Given the description of an element on the screen output the (x, y) to click on. 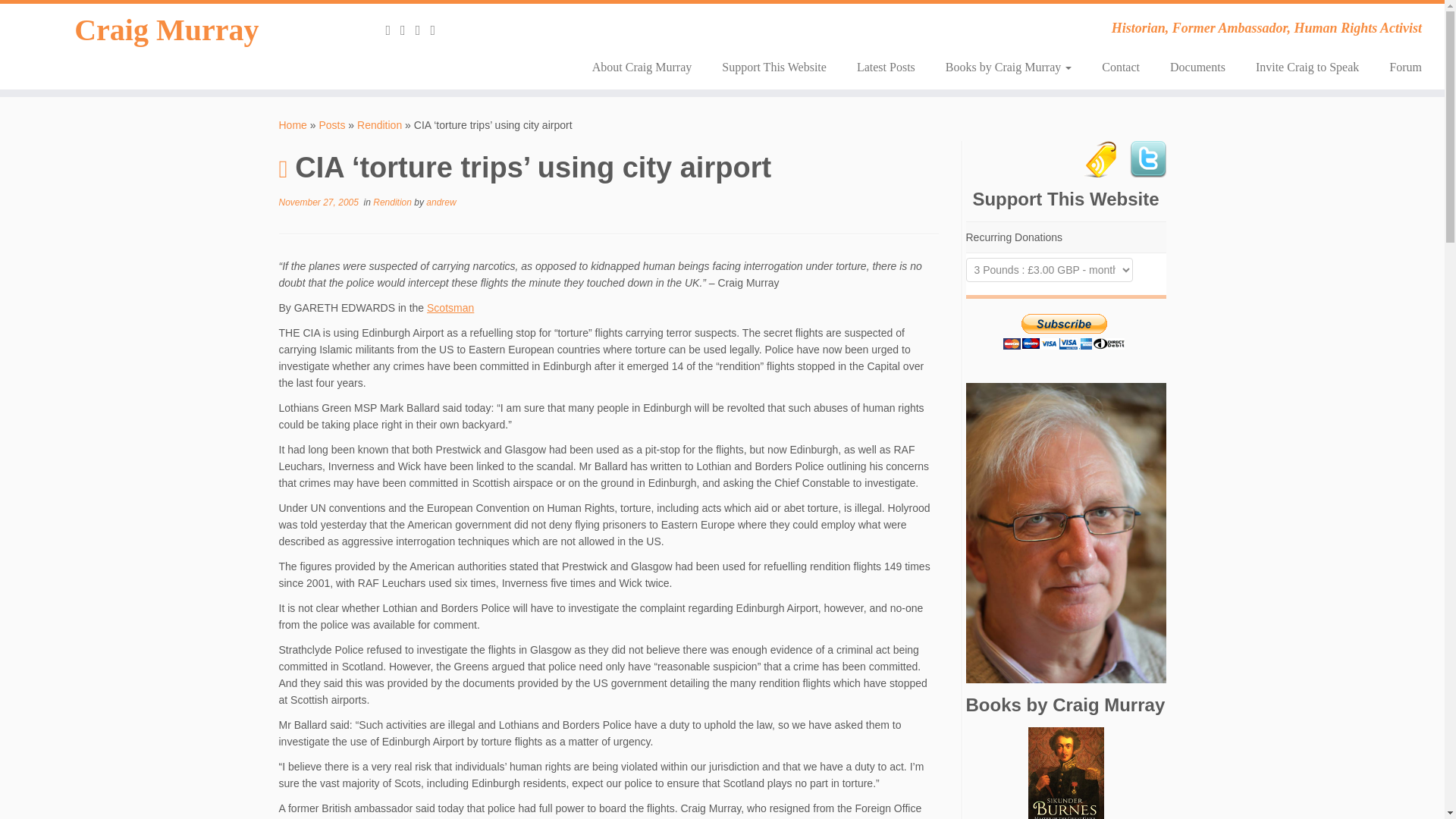
Books by Craig Murray (1008, 67)
Support This Website (773, 67)
Follow me on Facebook (437, 29)
Home (293, 124)
About Craig Murray (641, 67)
Rendition (378, 124)
Follow me on Twitter (422, 29)
Invite Craig to Speak (1307, 67)
E-mail (407, 29)
November 27, 2005 (318, 202)
Rendition (392, 202)
Posts (331, 124)
Scotsman (450, 307)
Subscribe to my rss feed (392, 29)
Craig Murray (166, 30)
